Given the description of an element on the screen output the (x, y) to click on. 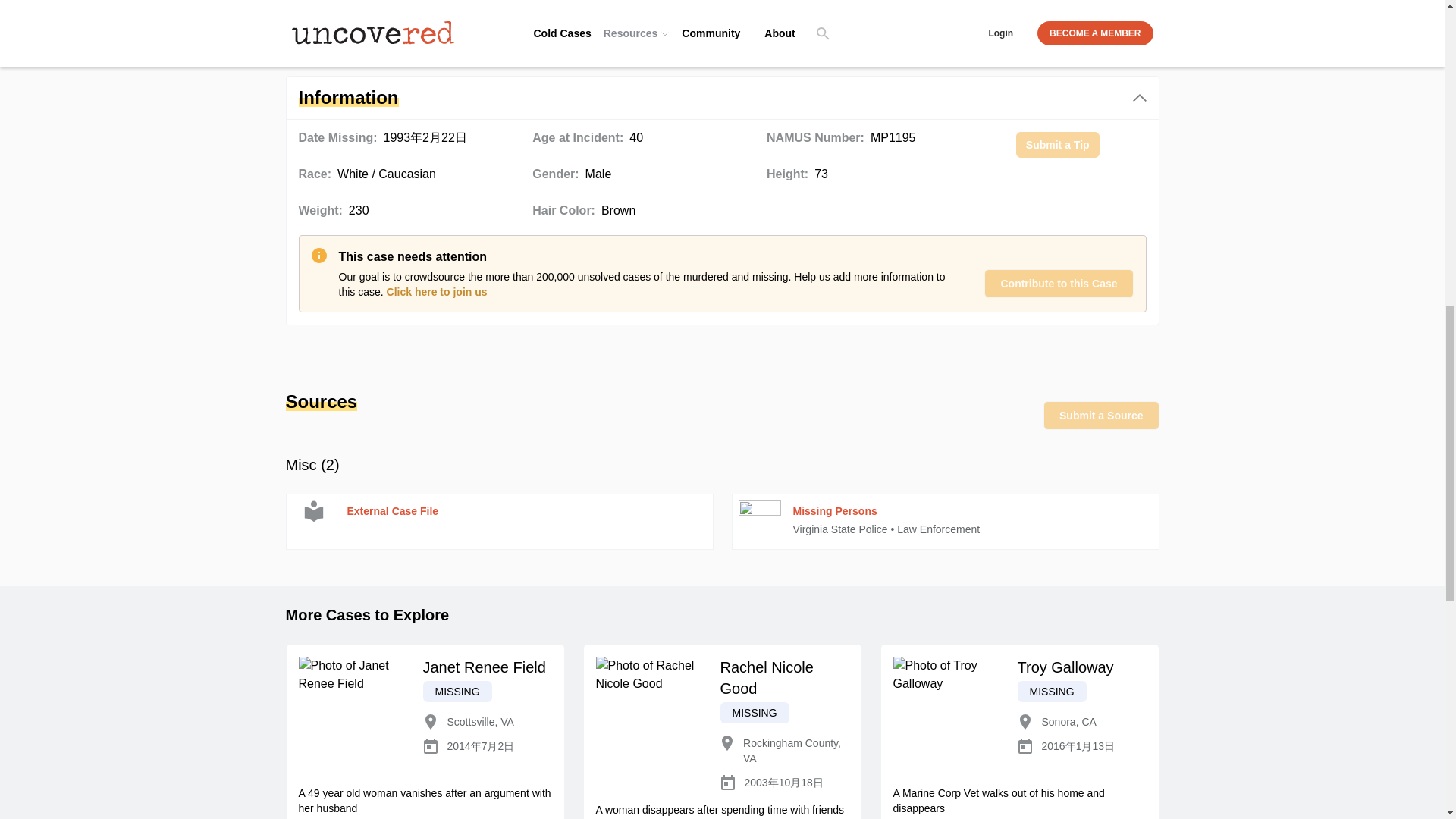
Click here to join us (437, 291)
Contribute to this Case (1058, 283)
Submit a Source (1100, 415)
Submit a Tip (1057, 144)
